Given the description of an element on the screen output the (x, y) to click on. 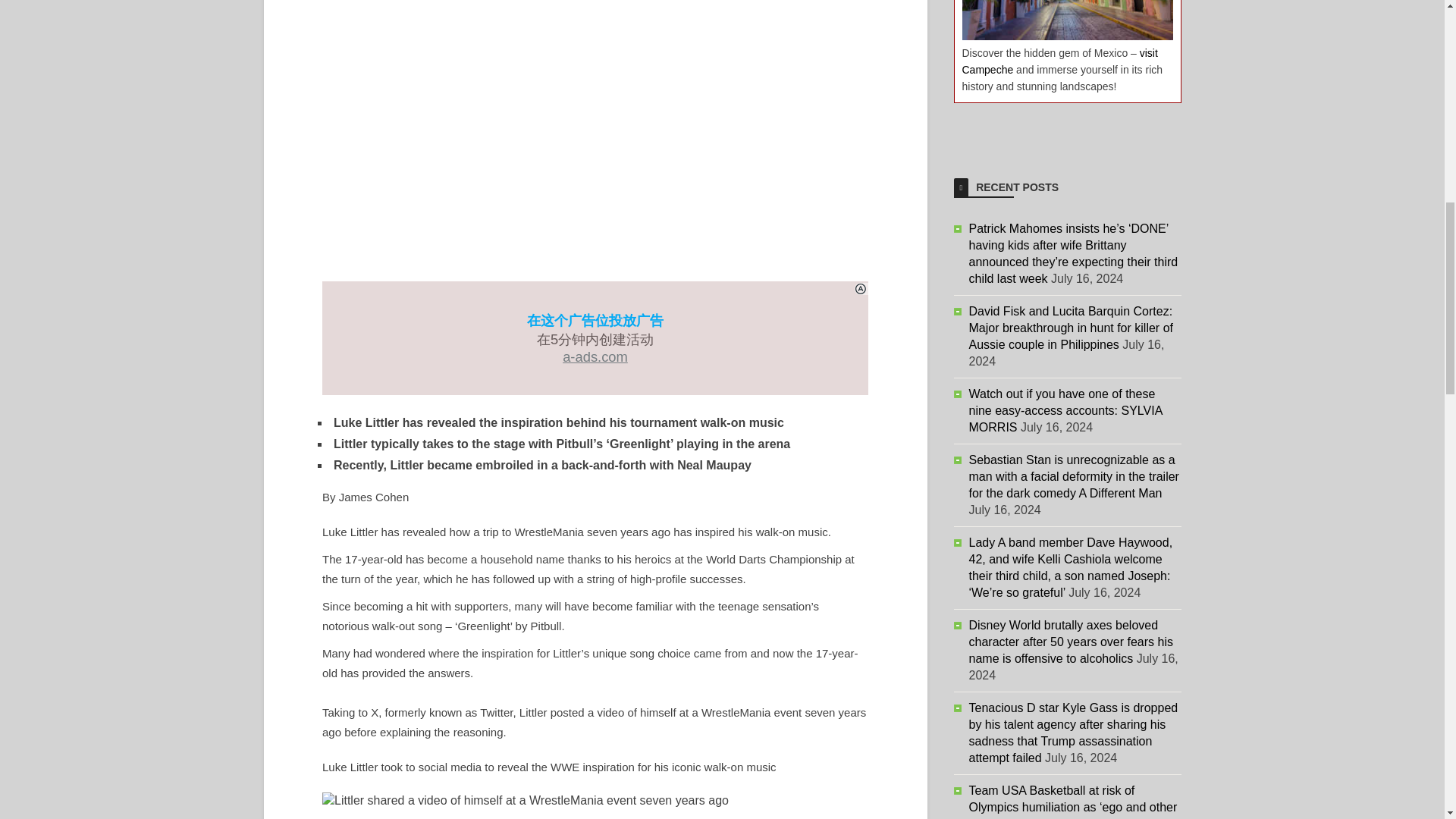
visit Campeche (1058, 61)
